Given the description of an element on the screen output the (x, y) to click on. 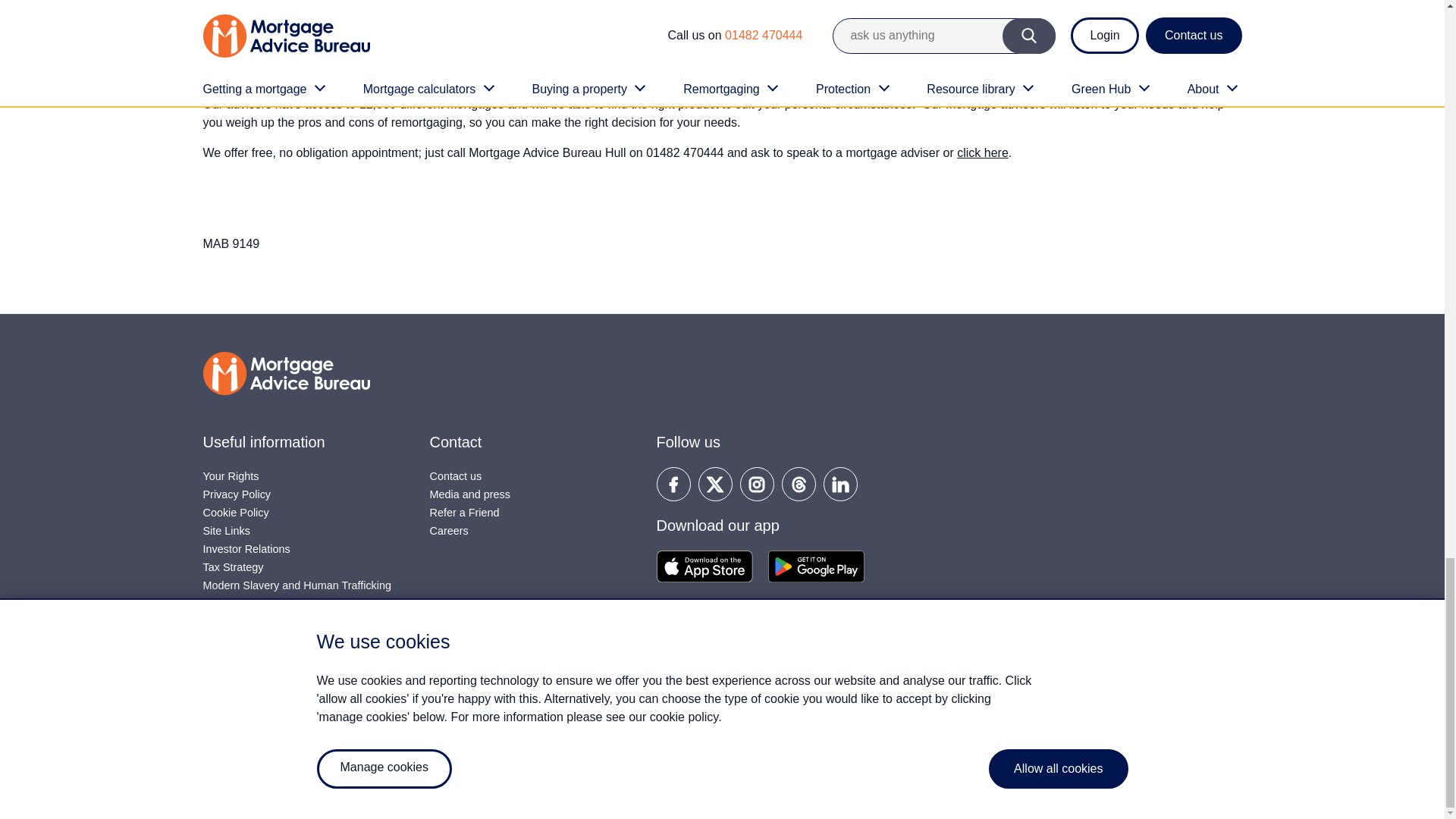
Download from the AppStore (704, 564)
Threads (797, 482)
X (714, 482)
Facebook (673, 482)
Instagram (756, 482)
LinkedIn (840, 482)
Get it on GooglePlay (815, 564)
Newland Avenue Hull (982, 152)
